Given the description of an element on the screen output the (x, y) to click on. 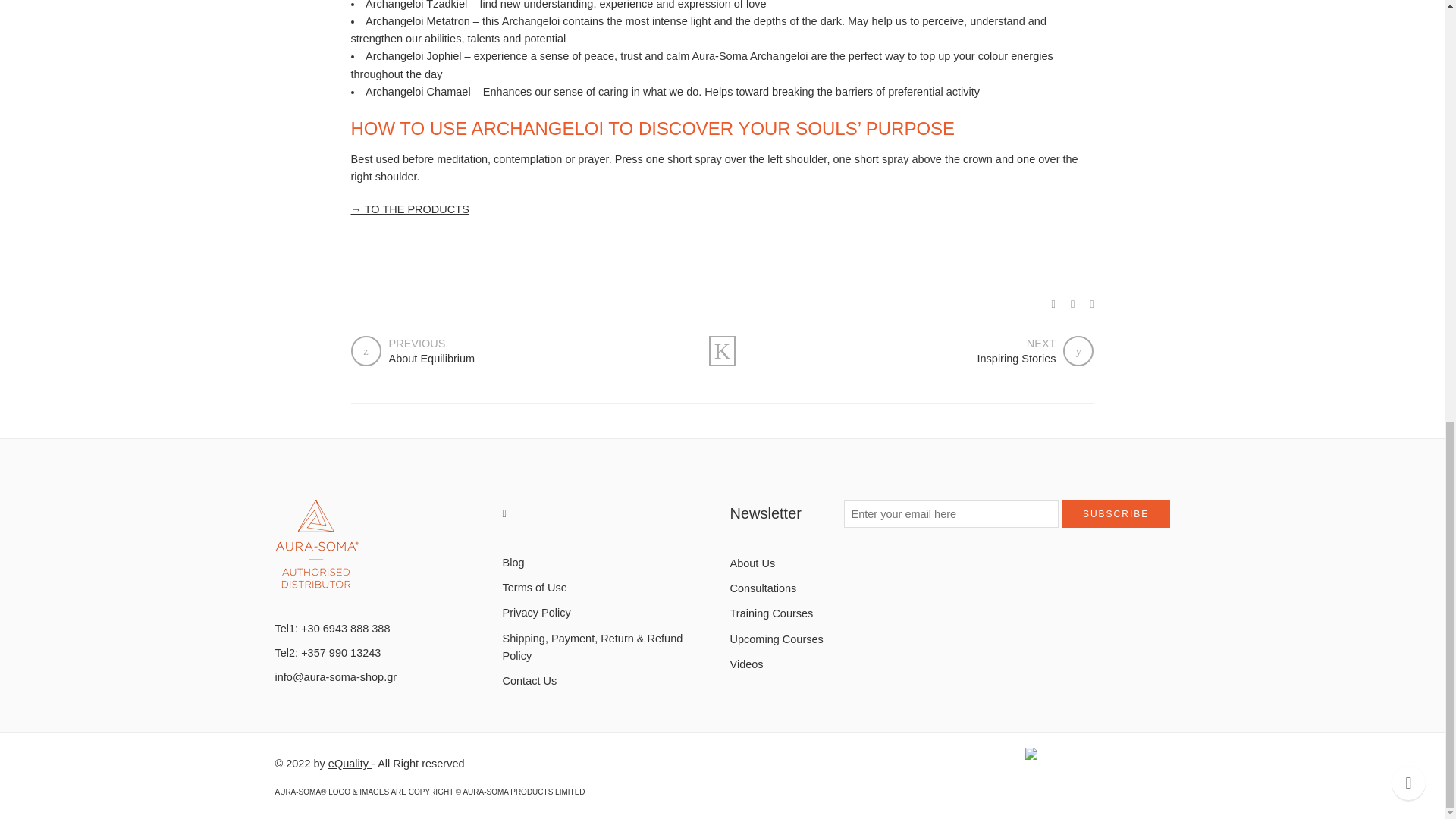
Blog (608, 562)
About Us (816, 563)
Training Courses (816, 613)
Contact Us (608, 681)
SUBSCRIBE (1116, 513)
Terms of Use (608, 587)
Privacy Policy (517, 350)
SUBSCRIBE (608, 612)
